Given the description of an element on the screen output the (x, y) to click on. 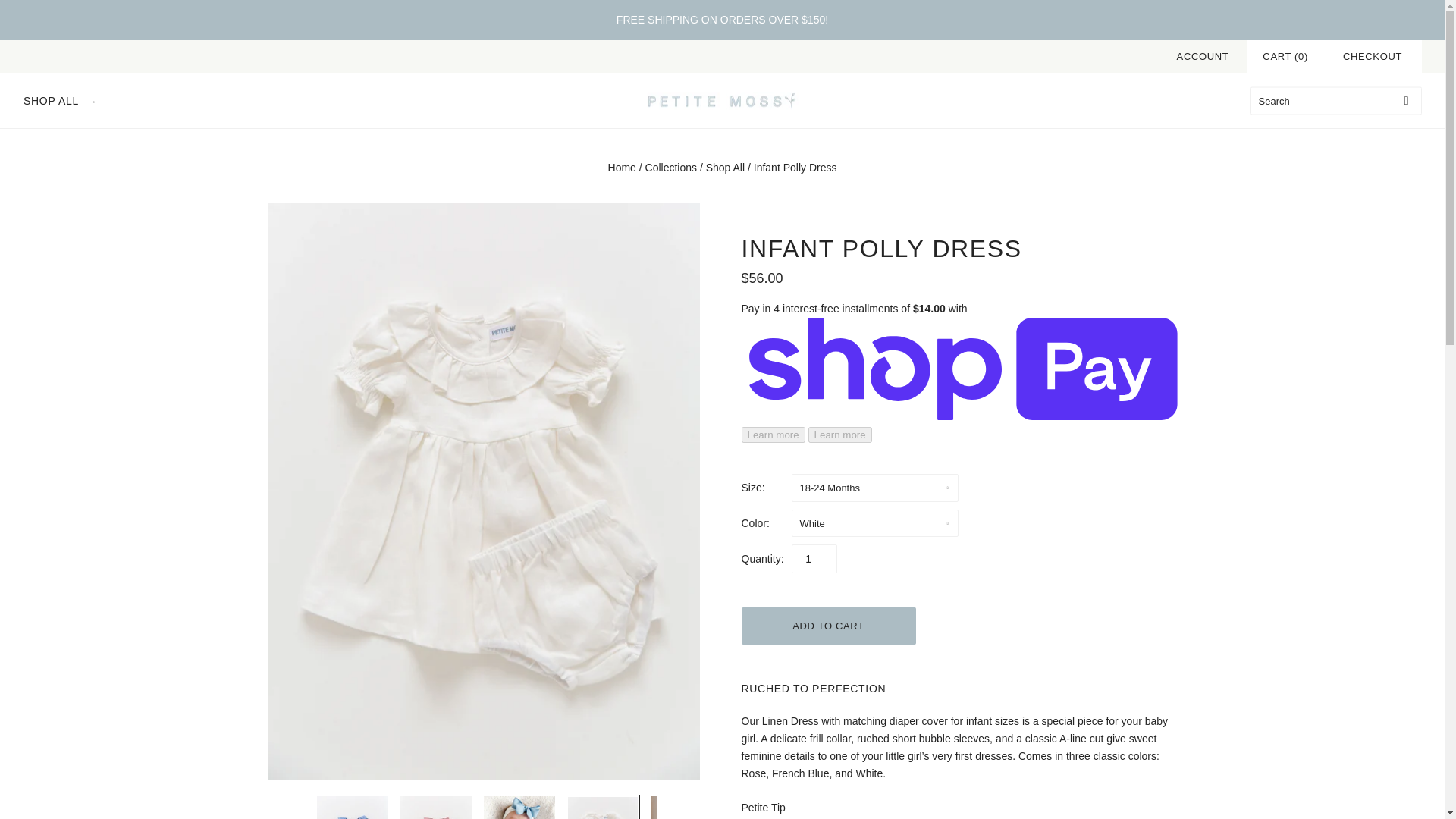
Collections (671, 167)
Home (622, 167)
Add to cart (828, 625)
Shop All (725, 167)
CHECKOUT (1372, 56)
ACCOUNT (1202, 56)
Add to cart (828, 625)
1 (814, 558)
